Given the description of an element on the screen output the (x, y) to click on. 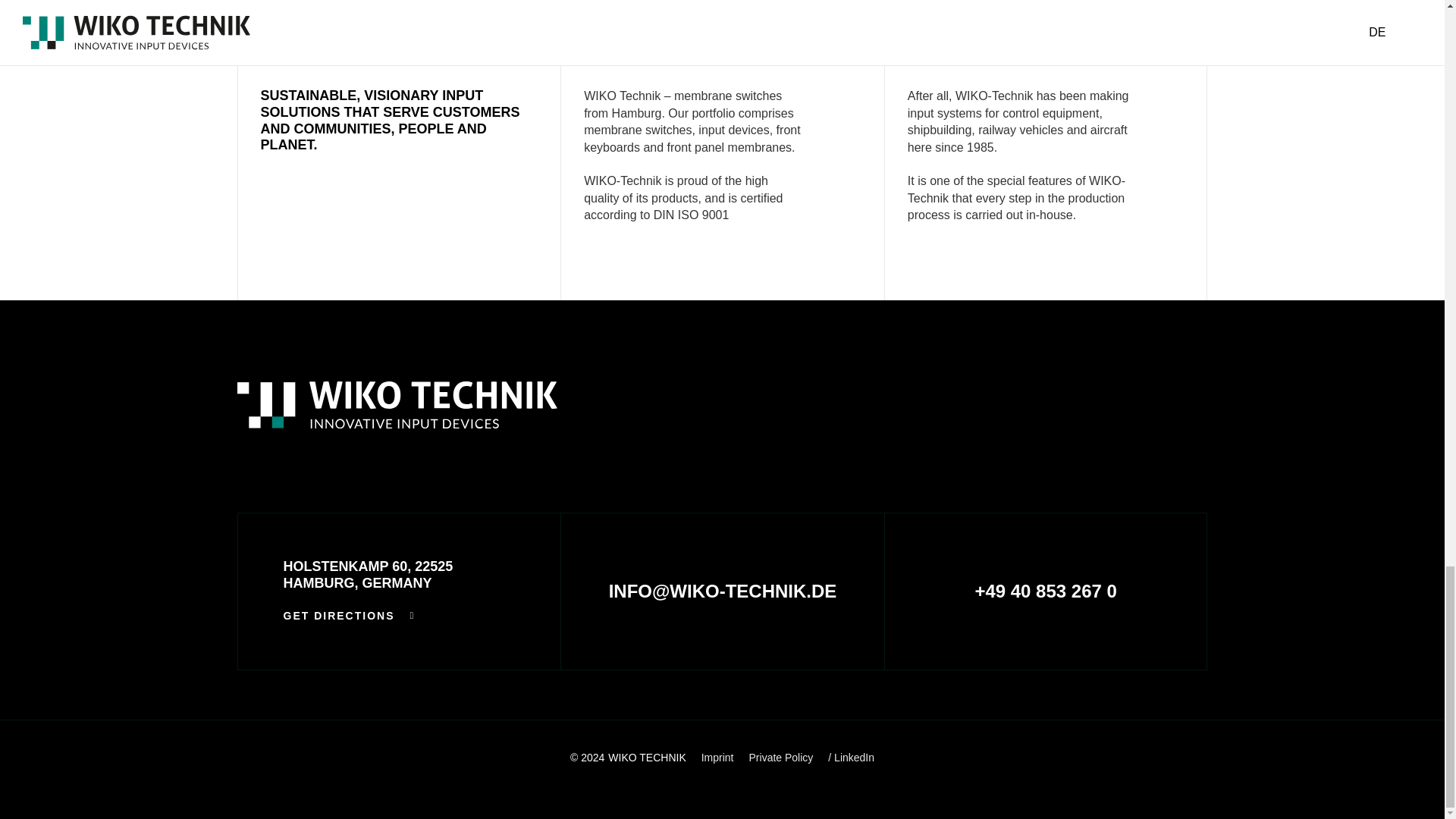
HOLSTENKAMP 60, 22525 HAMBURG, GERMANY (367, 574)
WIKO TECHNIK (646, 757)
Private Policy (781, 758)
GET DIRECTIONS (348, 615)
Imprint (717, 758)
